Given the description of an element on the screen output the (x, y) to click on. 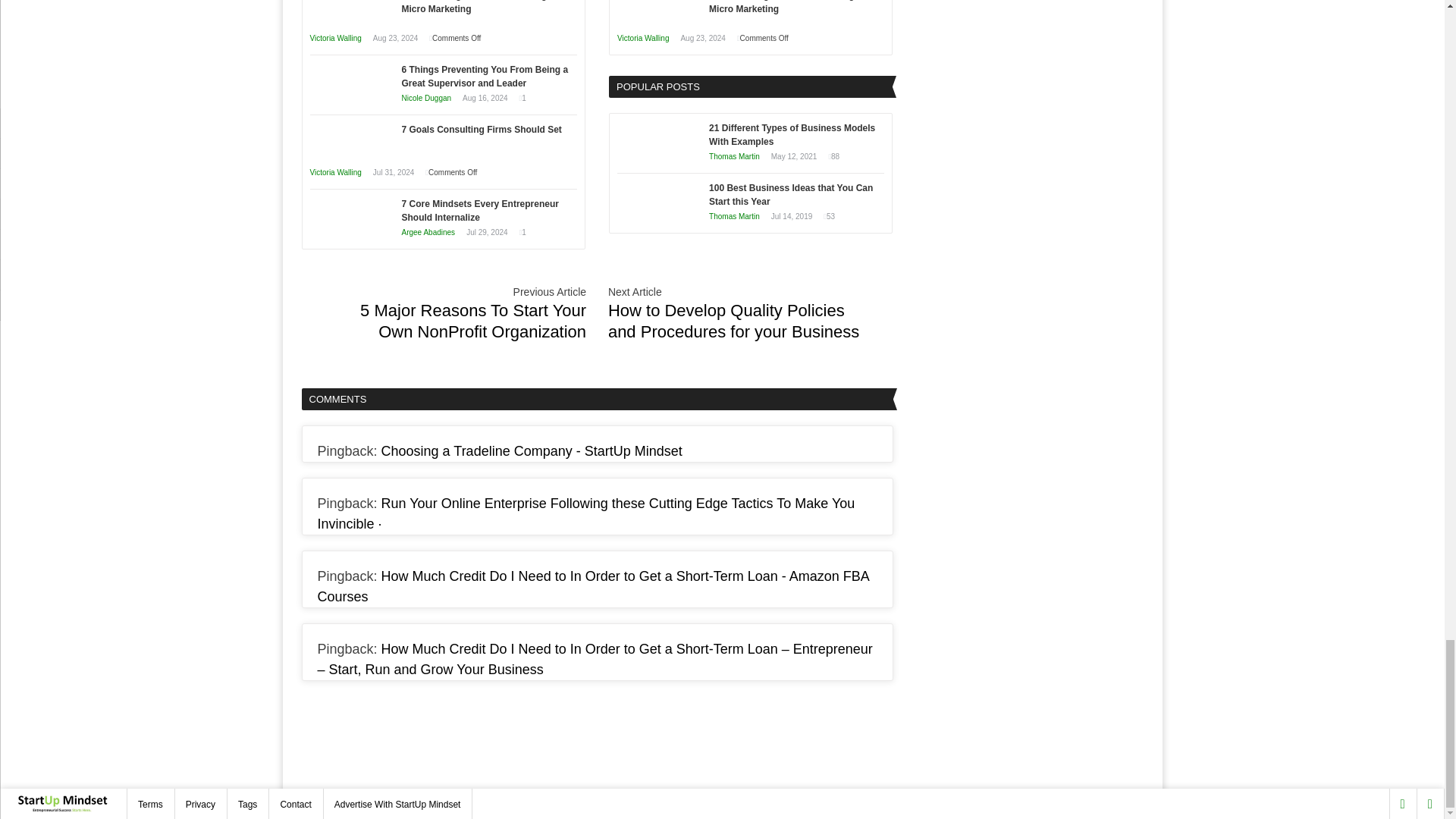
Posts by Nicole Duggan (426, 98)
Posts by Victoria Walling (334, 172)
Posts by Victoria Walling (642, 38)
Posts by Thomas Martin (734, 156)
Posts by Argee Abadines (428, 232)
Posts by Thomas Martin (734, 216)
Posts by Victoria Walling (334, 38)
